Given the description of an element on the screen output the (x, y) to click on. 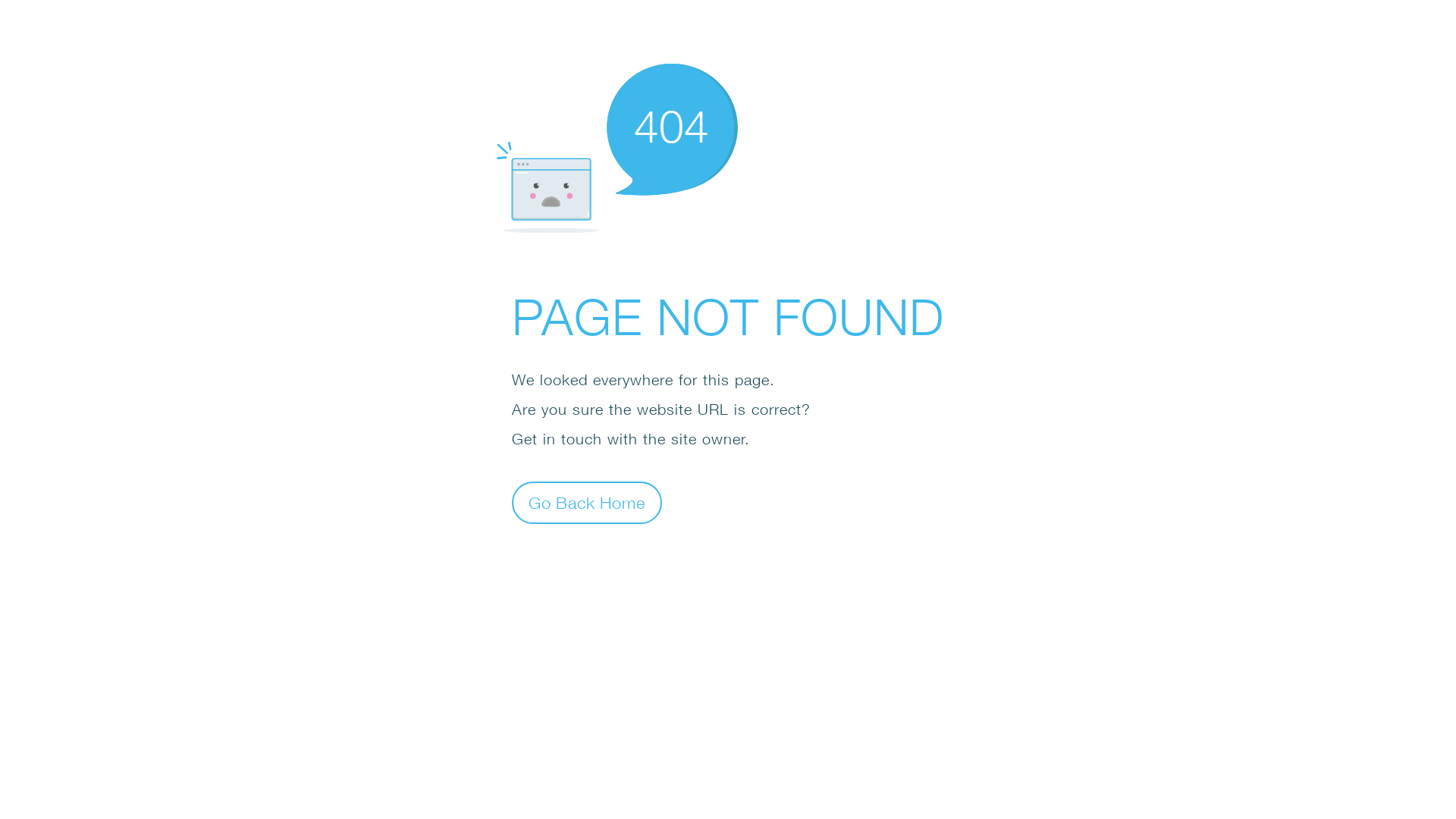
Go Back Home Element type: text (586, 502)
